Given the description of an element on the screen output the (x, y) to click on. 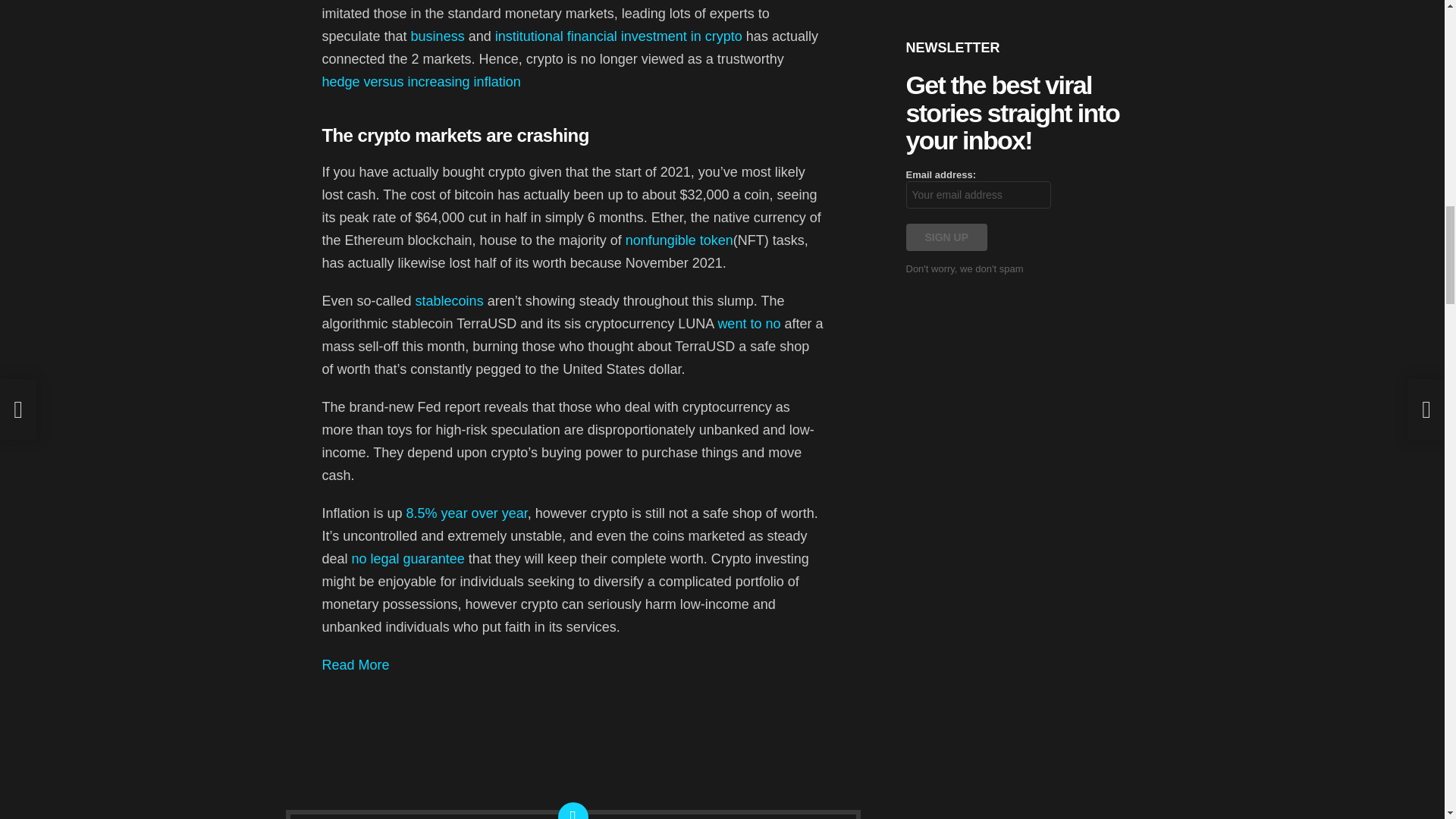
Read More (354, 664)
business (437, 36)
Sign up (946, 236)
stablecoins (448, 300)
nonfungible token (679, 240)
institutional financial investment in crypto (618, 36)
no legal guarantee (408, 558)
went to no (748, 323)
hedge versus increasing inflation (420, 81)
